Given the description of an element on the screen output the (x, y) to click on. 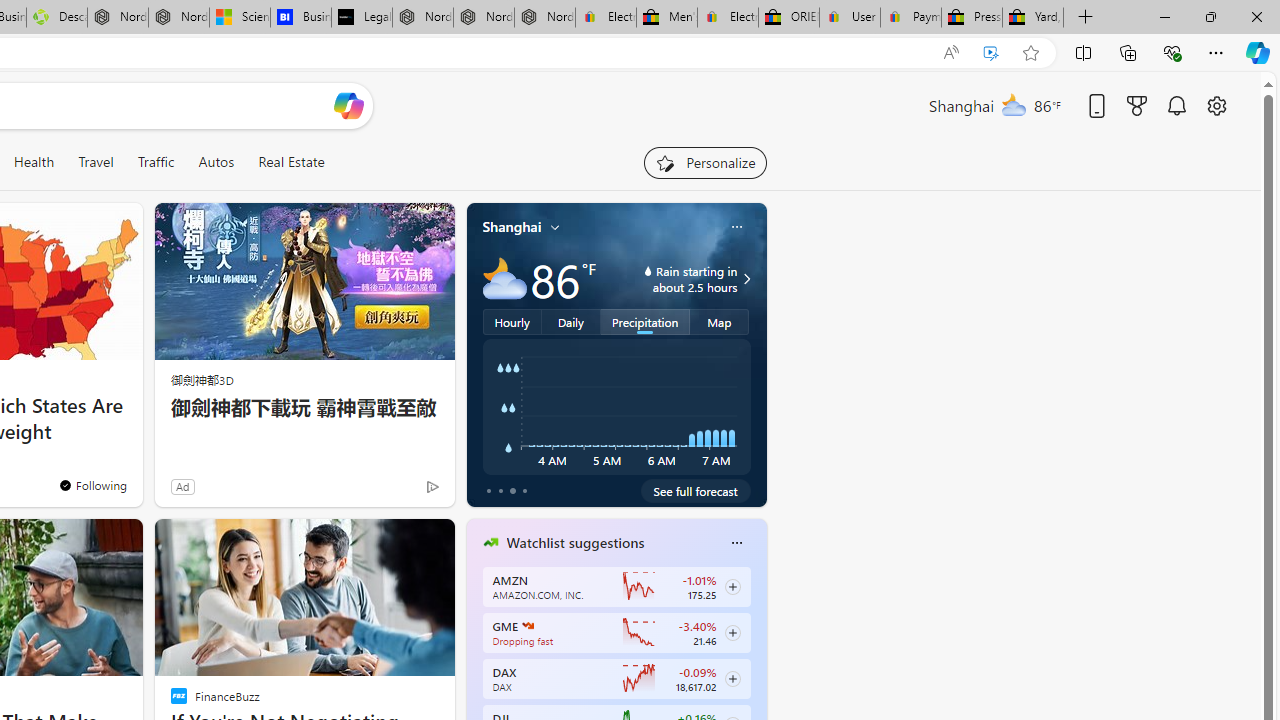
You're following The Weather Channel (390, 490)
4 AM 5 AM 6 AM 7 AM (616, 407)
water-drop-icon (648, 270)
Health (33, 162)
User Privacy Notice | eBay (850, 17)
Health (34, 161)
Descarga Driver Updater (56, 17)
Map (719, 321)
Class: follow-button  m (732, 678)
